Given the description of an element on the screen output the (x, y) to click on. 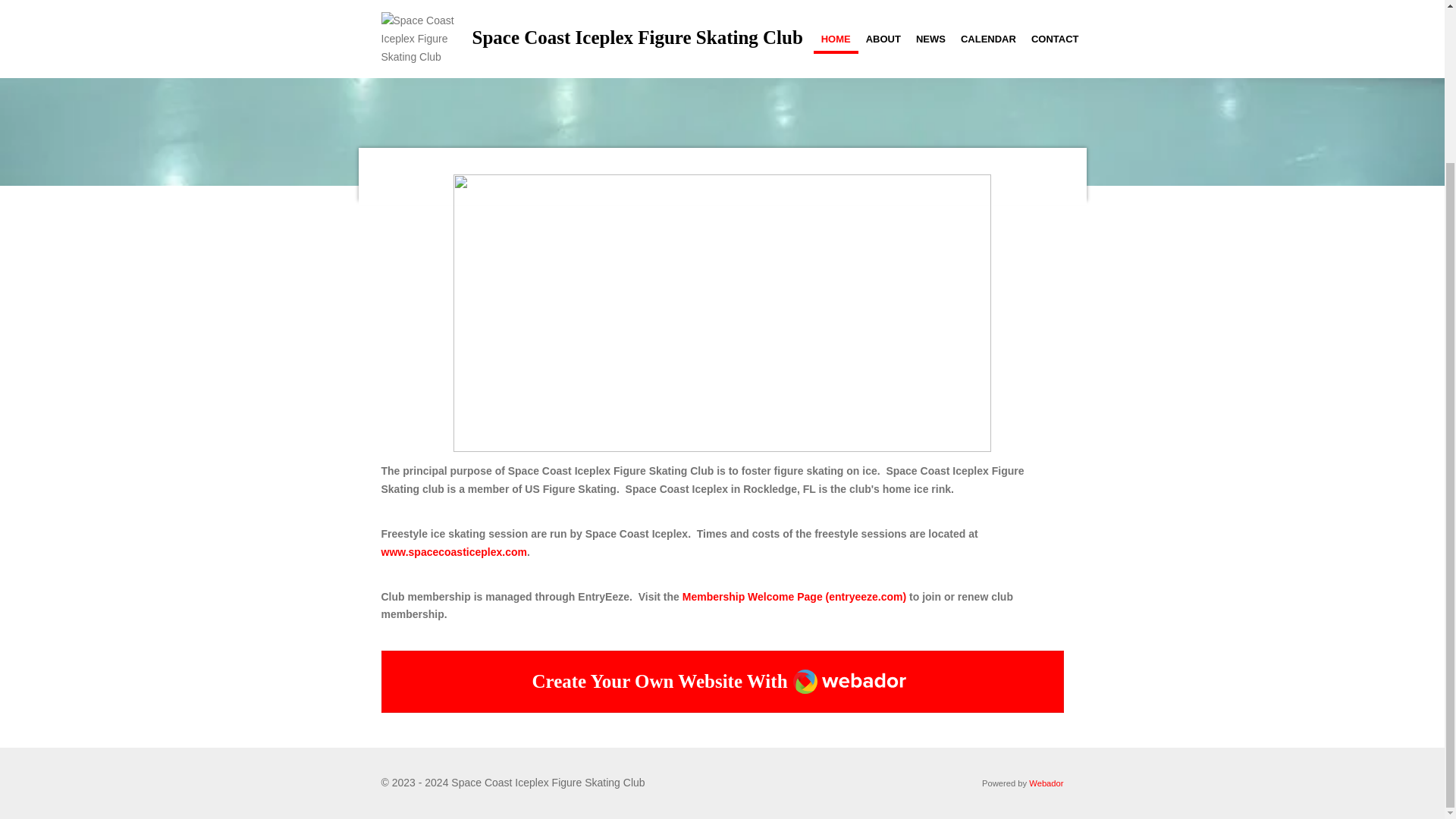
Webador (1045, 782)
www.spacecoasticeplex.com (452, 551)
Webador (850, 681)
